Given the description of an element on the screen output the (x, y) to click on. 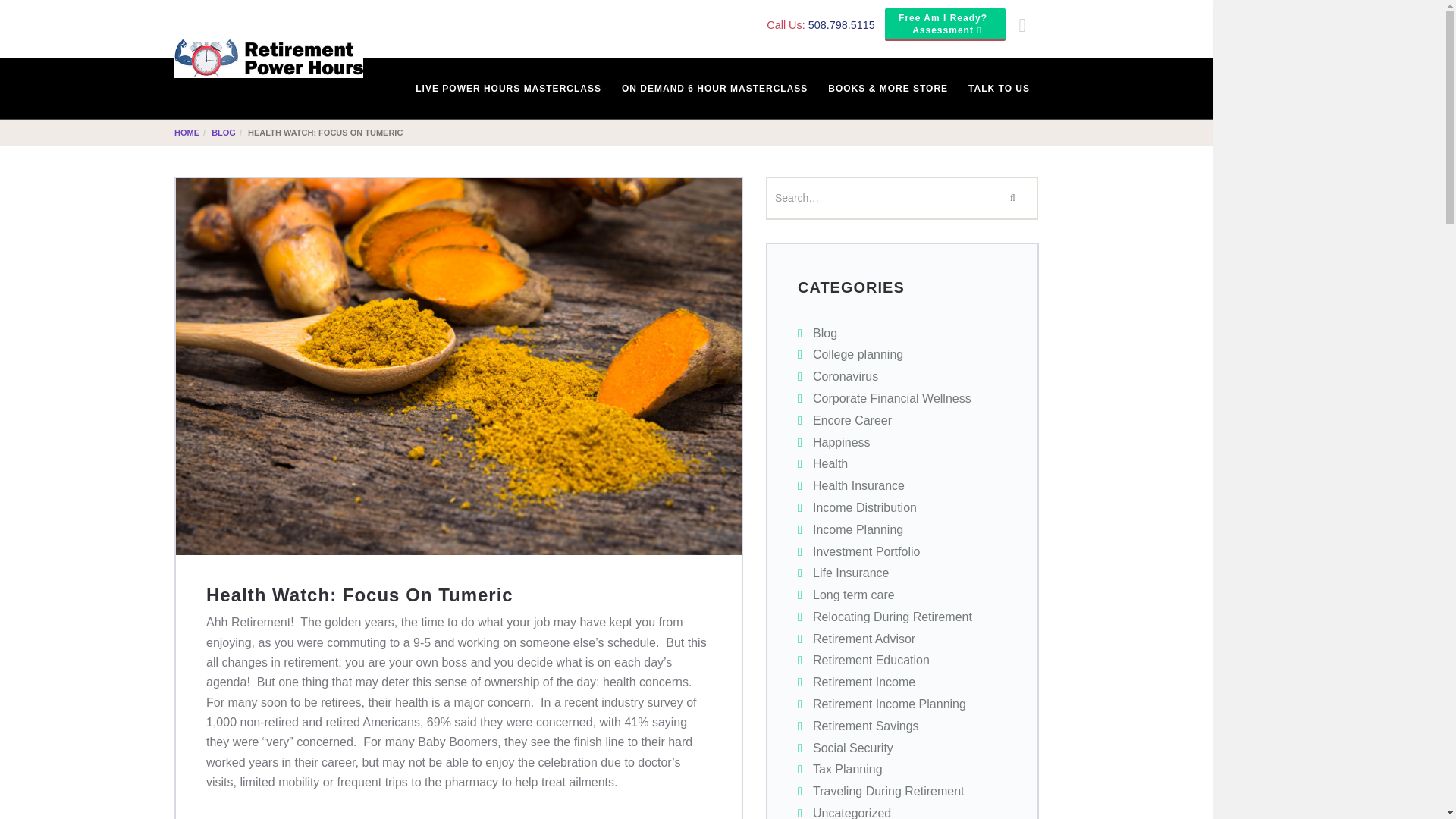
On Demand 6 Hour Masterclass (713, 88)
HOME (186, 132)
ON DEMAND 6 HOUR MASTERCLASS (713, 88)
Blog (945, 24)
Investment Portfolio (824, 332)
College planning (866, 550)
Coronavirus (857, 354)
TALK TO US (844, 376)
Happiness (997, 88)
